Given the description of an element on the screen output the (x, y) to click on. 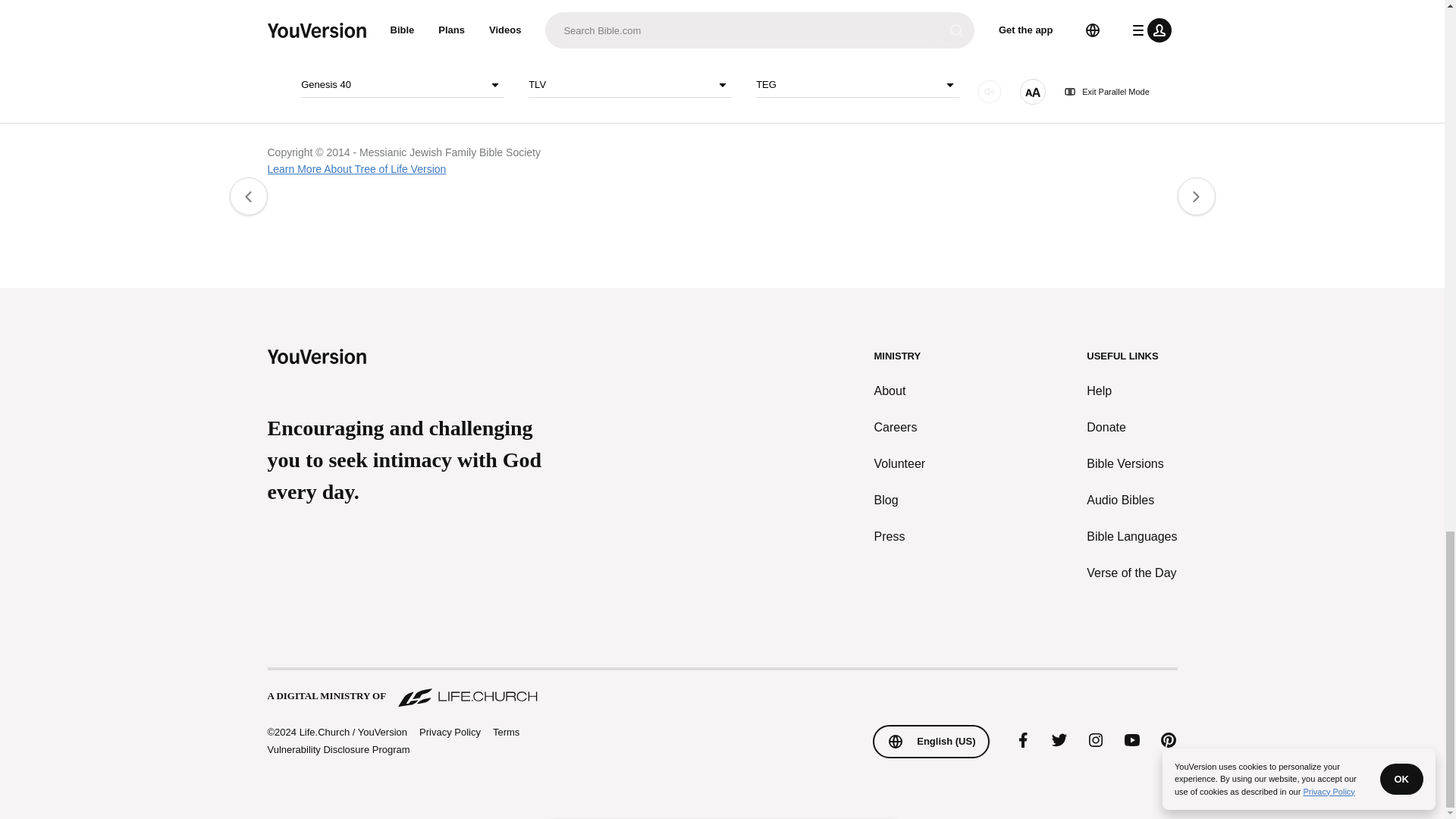
About (900, 391)
Blog (900, 500)
Bible Languages (1131, 536)
Terms (506, 731)
Learn More About Tree of Life Version (355, 168)
Donate (1131, 427)
A DIGITAL MINISTRY OF (721, 688)
Bible Versions (1131, 464)
Help (1131, 391)
Privacy Policy (449, 732)
Careers (900, 427)
Press (900, 536)
Verse of the Day (1131, 573)
Vulnerability Disclosure Program (337, 749)
Volunteer (900, 464)
